Given the description of an element on the screen output the (x, y) to click on. 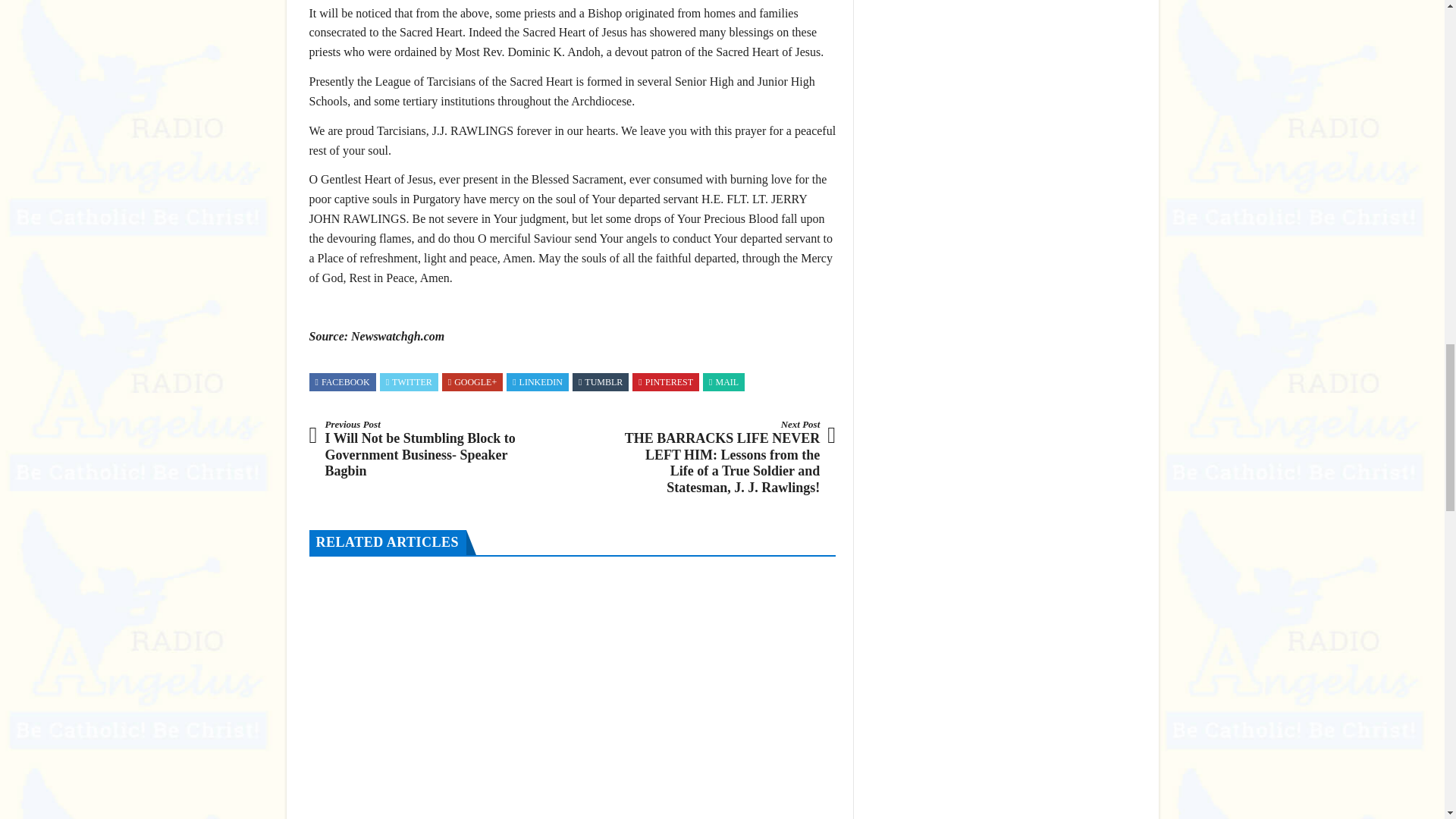
Facebook (342, 381)
Google Plus (472, 381)
LinkedIn (537, 381)
Tumblr (600, 381)
Mail (723, 381)
Pinterest (666, 381)
Twitter (408, 381)
